Given the description of an element on the screen output the (x, y) to click on. 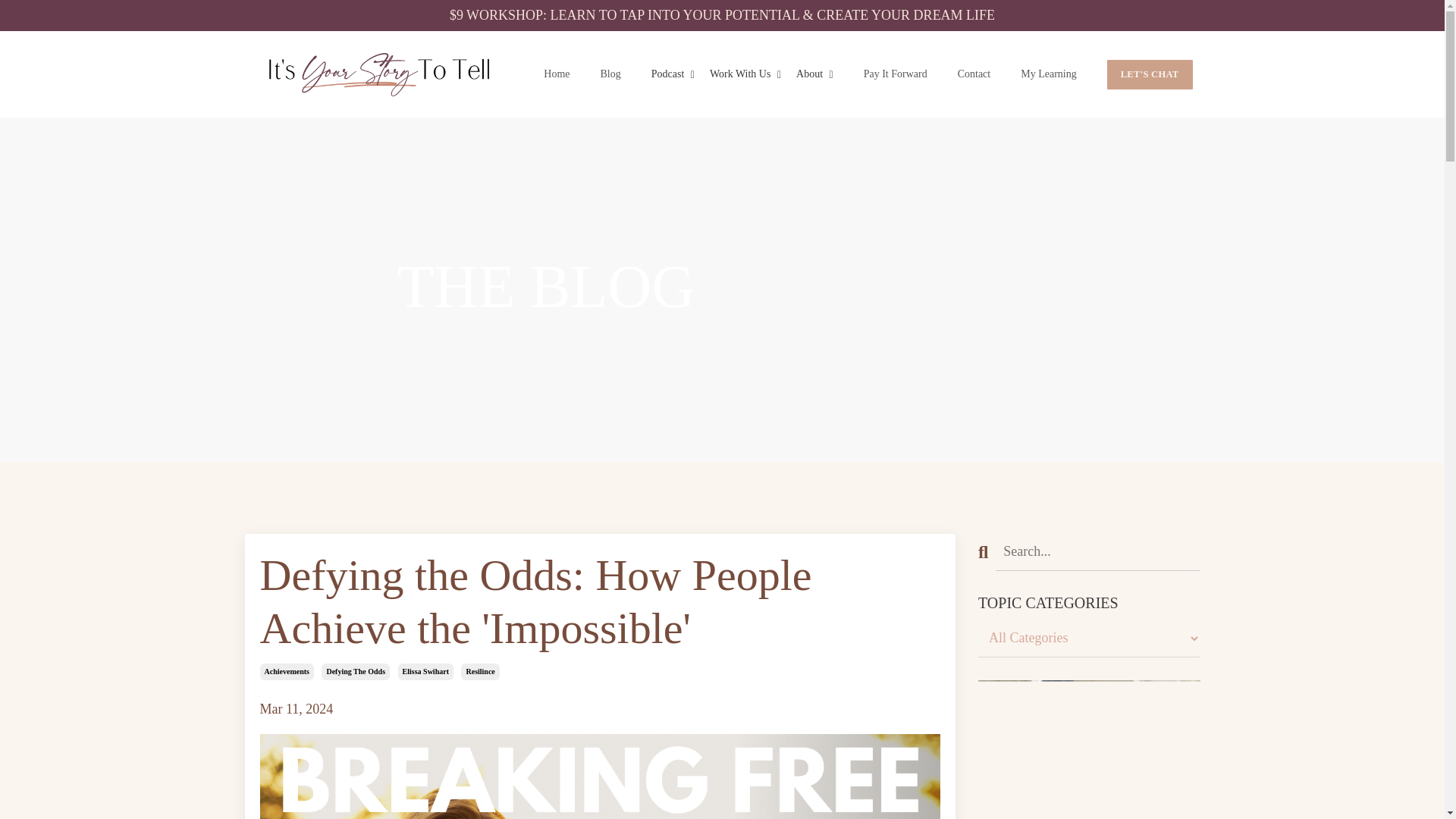
Elissa Swihart (424, 671)
Home (556, 73)
Podcast (672, 73)
Resilince (480, 671)
Contact (974, 73)
Work With Us (745, 73)
Achievements (286, 671)
My Learning (1047, 73)
Pay It Forward (895, 73)
LET'S CHAT (1149, 74)
